Given the description of an element on the screen output the (x, y) to click on. 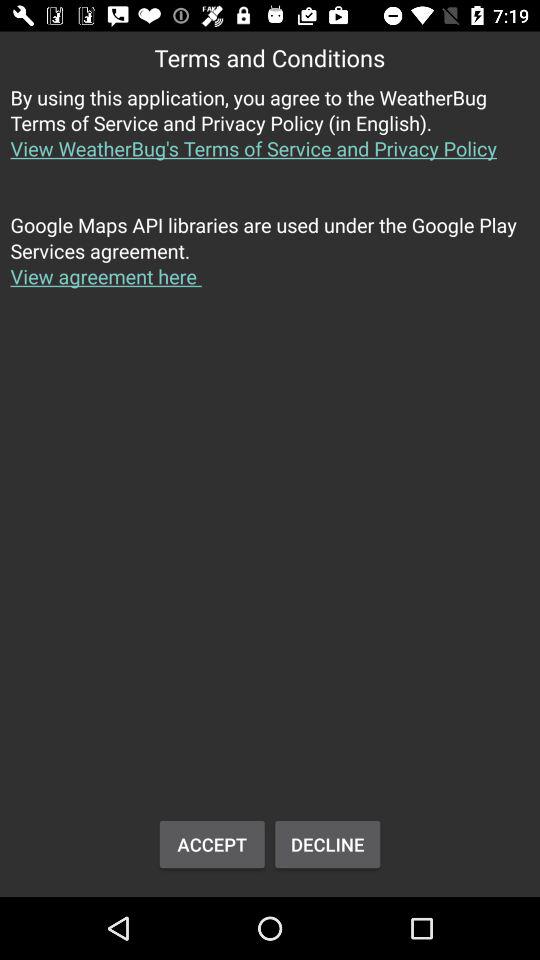
turn off by using this item (269, 134)
